Given the description of an element on the screen output the (x, y) to click on. 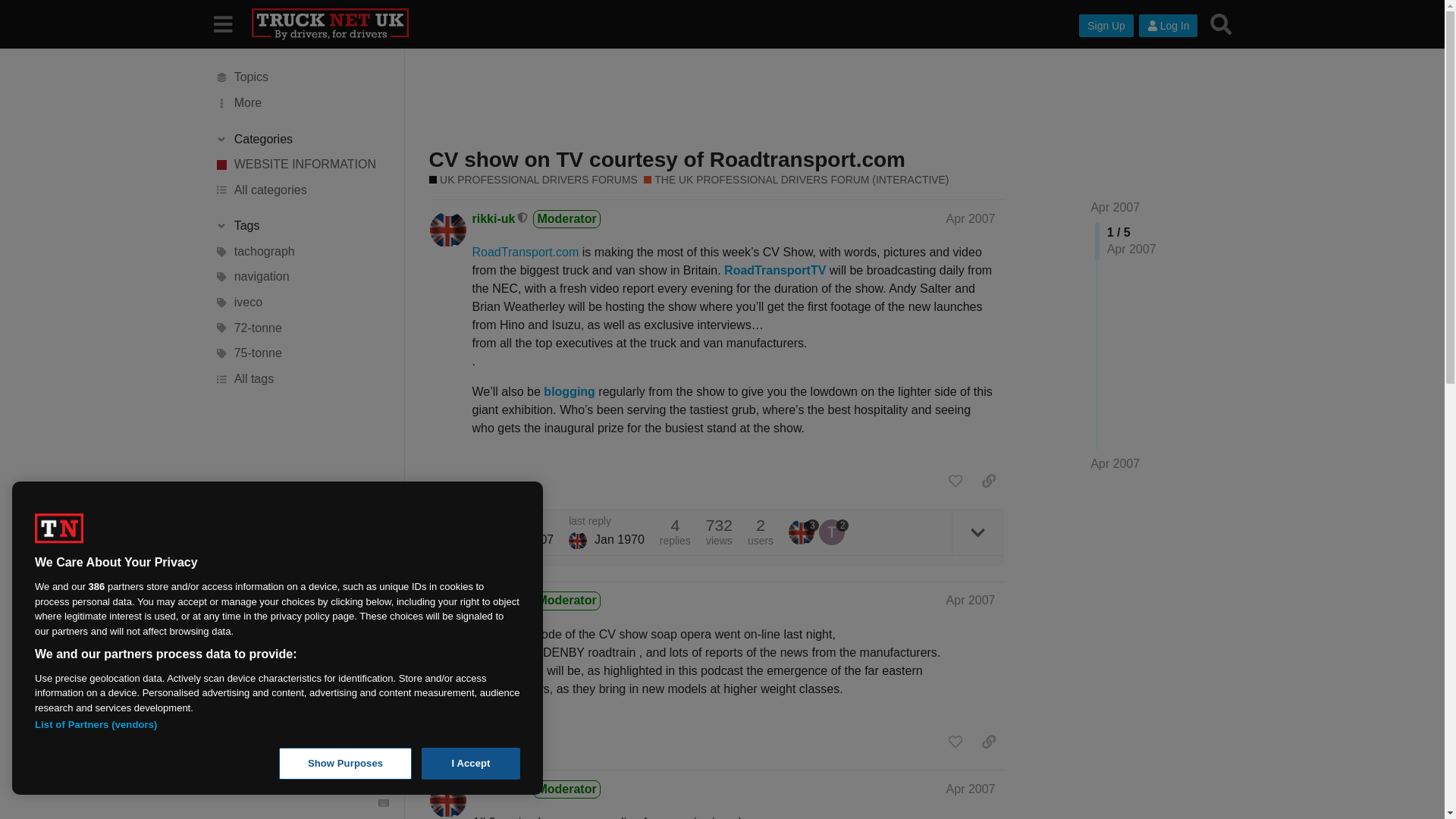
blogging (569, 391)
navigation (301, 277)
Apr 2007 (970, 218)
This user is a moderator (522, 218)
Log In (1168, 25)
All topics (301, 77)
All categories (301, 190)
3 (803, 532)
All tags (301, 379)
Topics (301, 77)
RoadTransport.com (524, 251)
Apr 2007 (1115, 463)
tachograph (301, 251)
Search (1220, 23)
RoadTransportTV (776, 269)
